Given the description of an element on the screen output the (x, y) to click on. 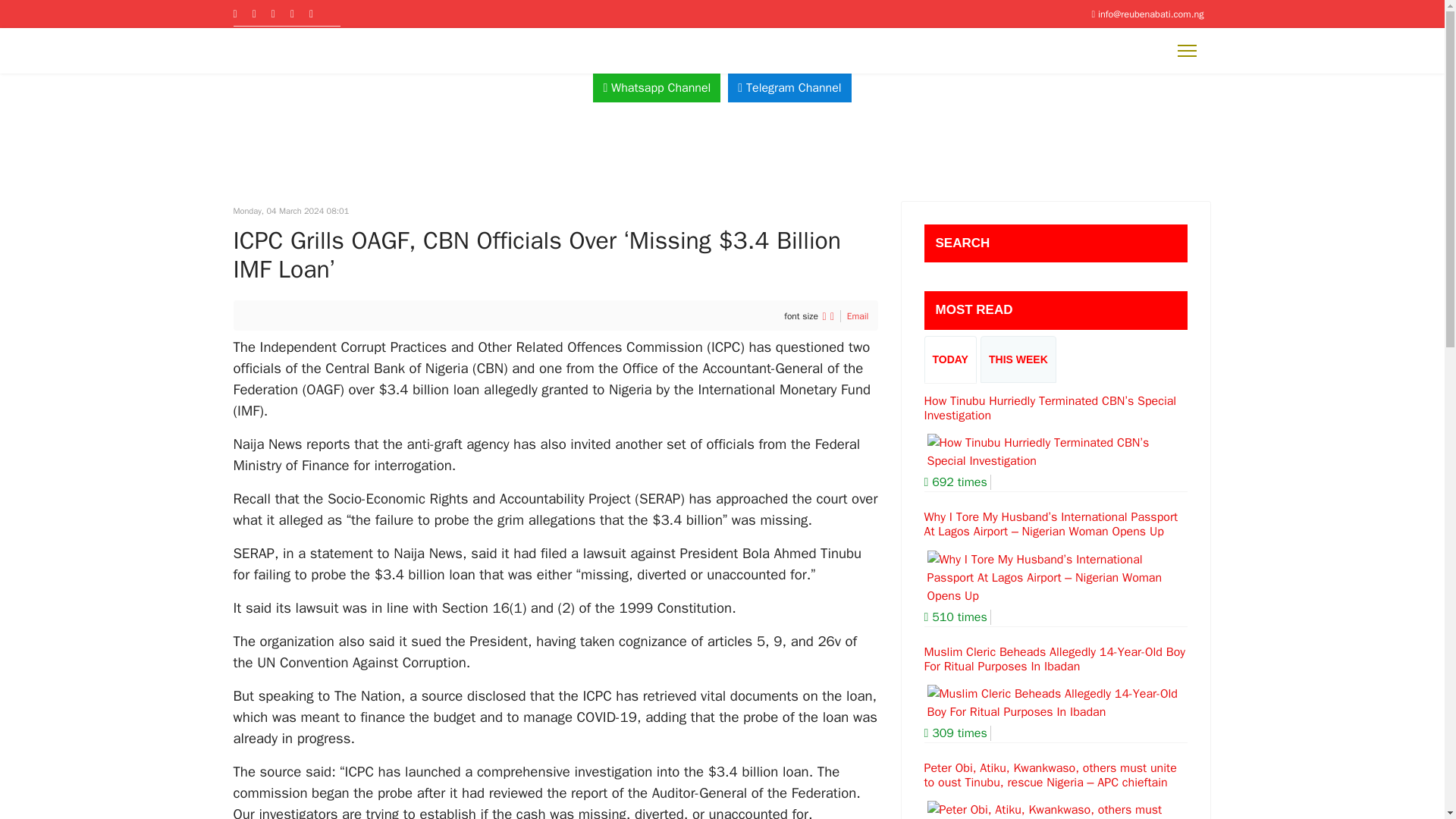
Telegram Channel (789, 87)
Email (858, 316)
Whatsapp Channel (656, 87)
